Given the description of an element on the screen output the (x, y) to click on. 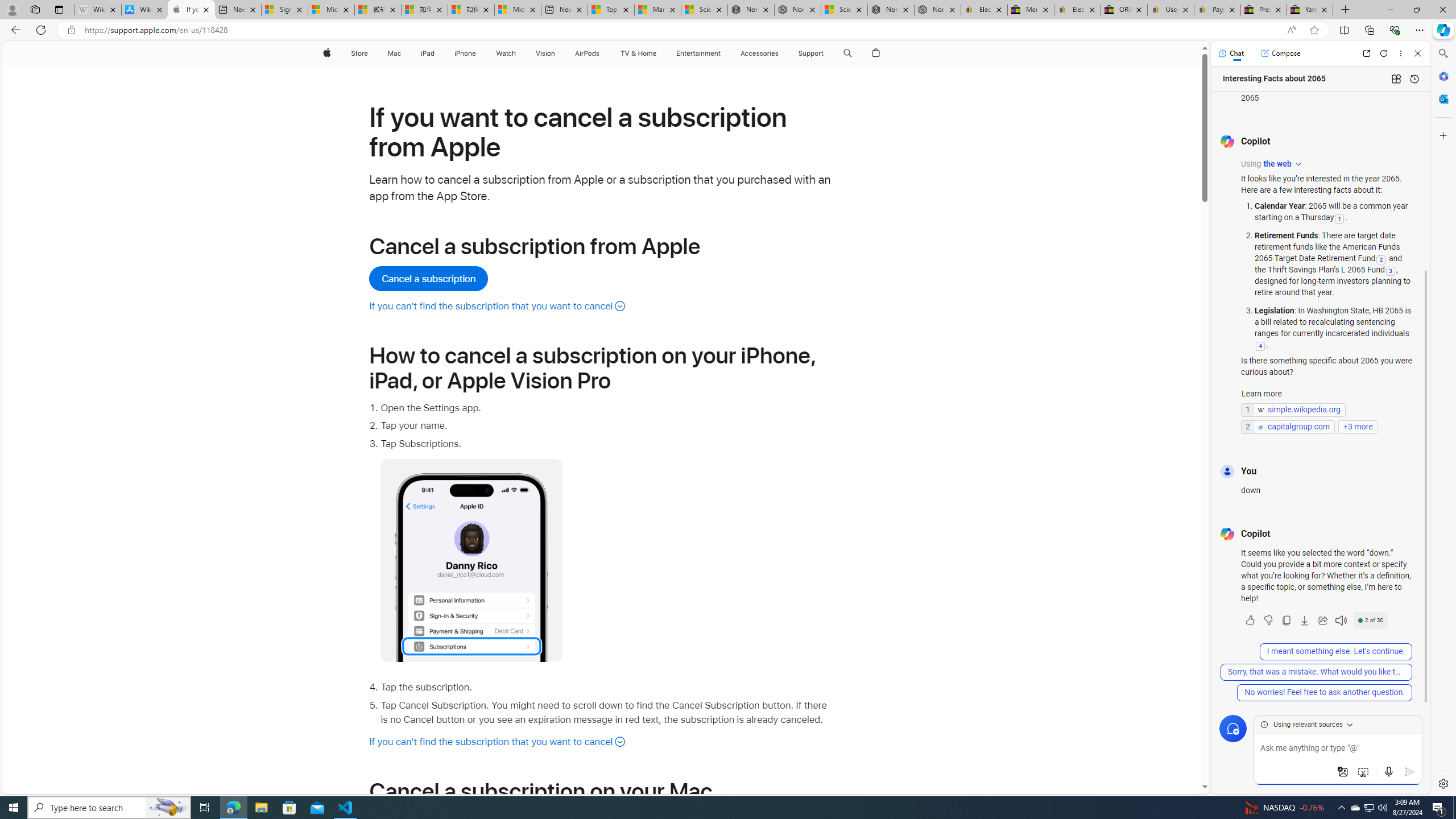
AutomationID: globalnav-bag (876, 53)
iPad (427, 53)
Mac (394, 53)
Tap the subscription. (607, 687)
Mac (394, 53)
